Given the description of an element on the screen output the (x, y) to click on. 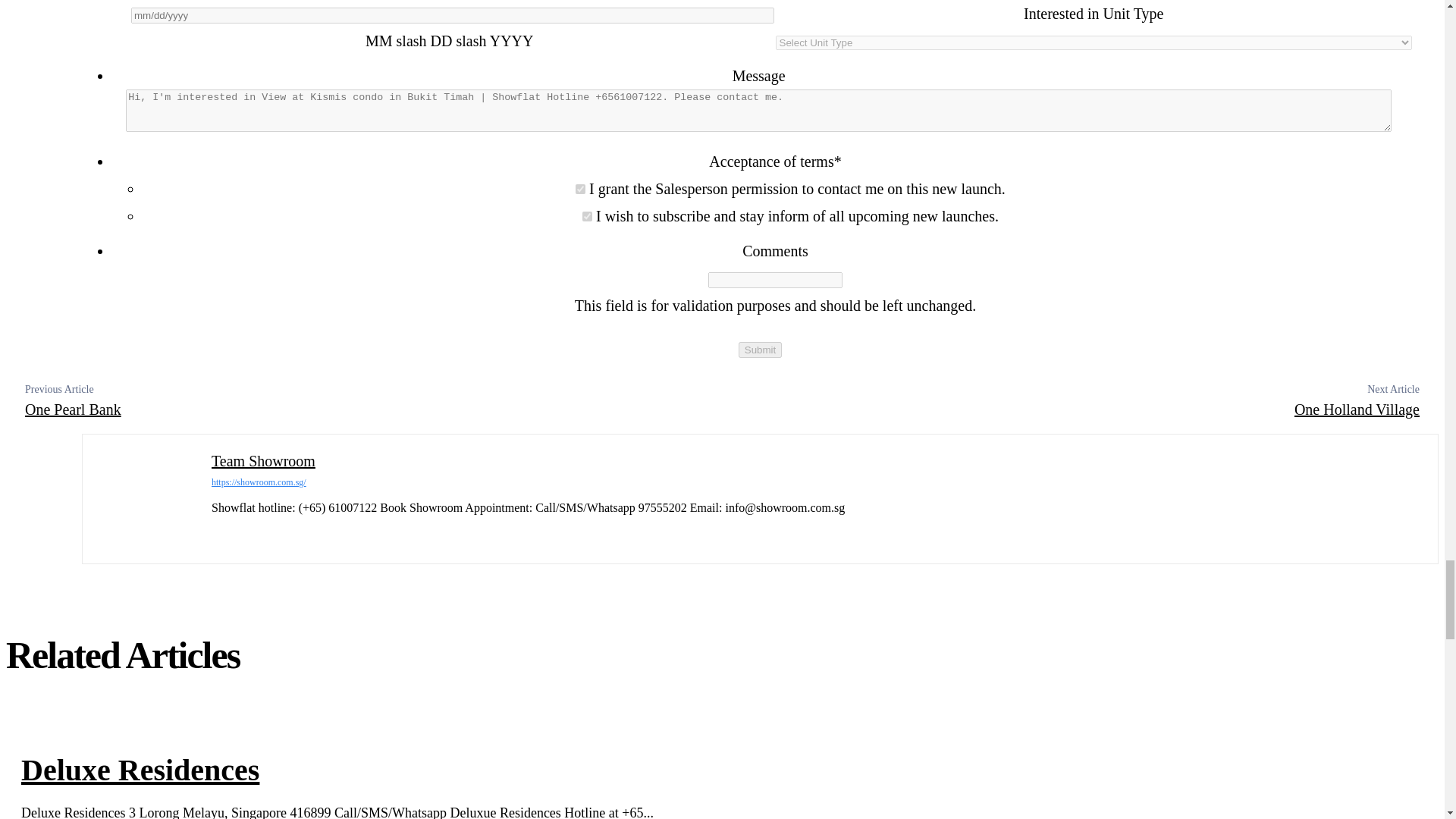
Submit (759, 349)
